Given the description of an element on the screen output the (x, y) to click on. 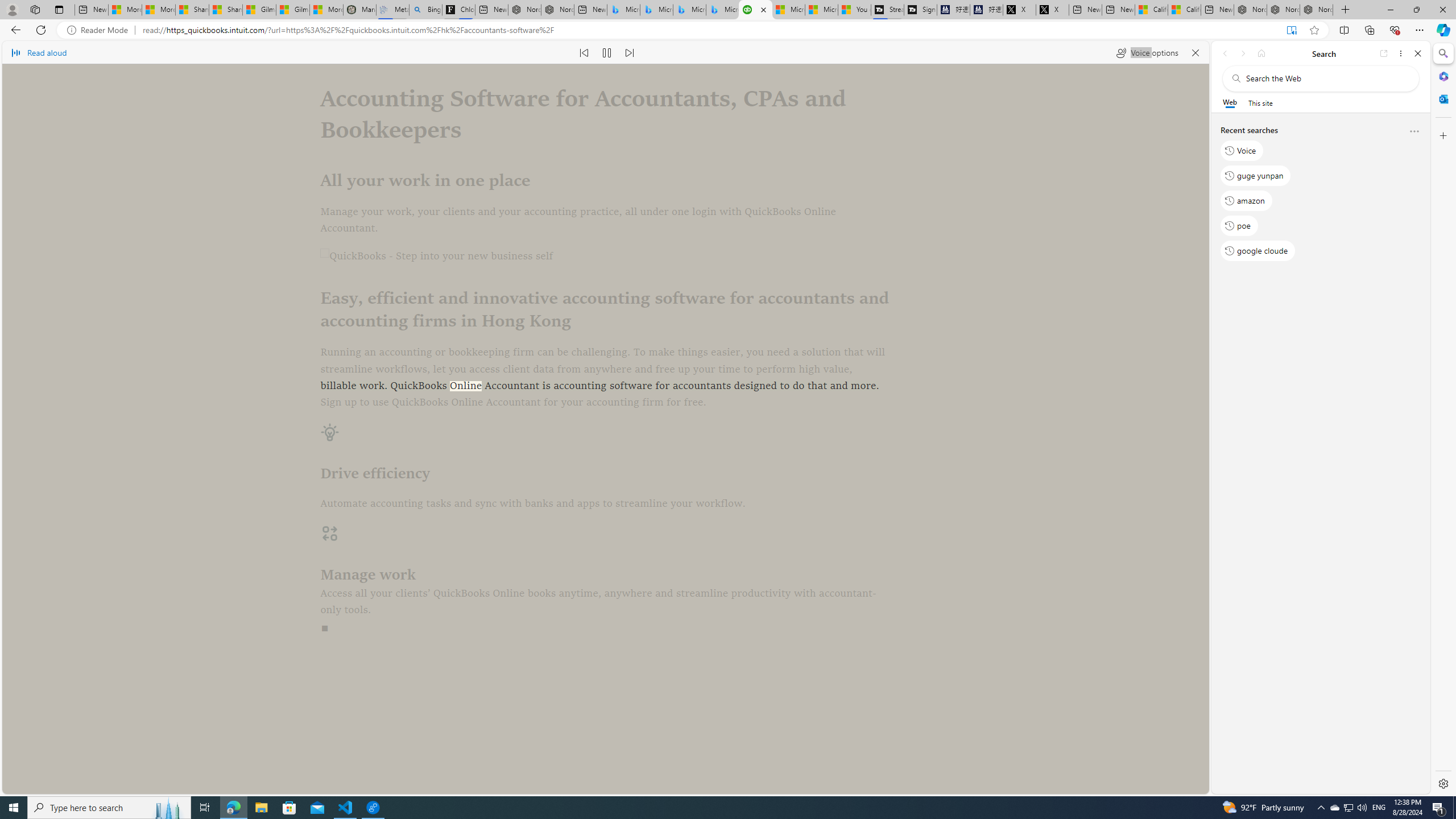
Customize (1442, 135)
Outlook (1442, 98)
Pause read aloud (Ctrl+Shift+U) (606, 52)
Search the web (1326, 78)
Web scope (1230, 102)
Read previous paragraph (583, 52)
